Given the description of an element on the screen output the (x, y) to click on. 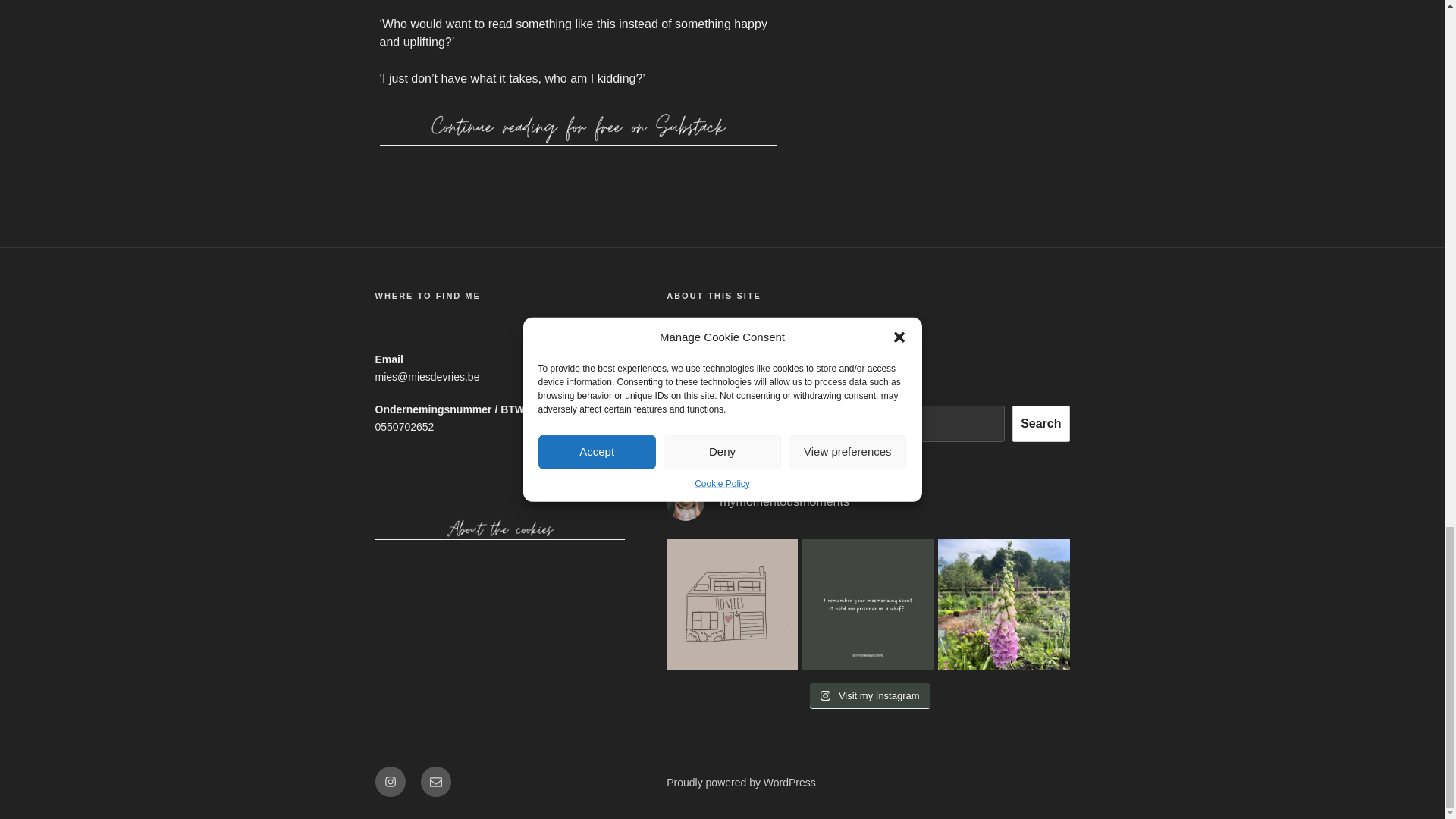
Instagram (389, 781)
Search (1039, 423)
Proudly powered by WordPress (740, 782)
Email (435, 781)
Visit my Instagram (869, 696)
mymomentousmoments (867, 501)
